Given the description of an element on the screen output the (x, y) to click on. 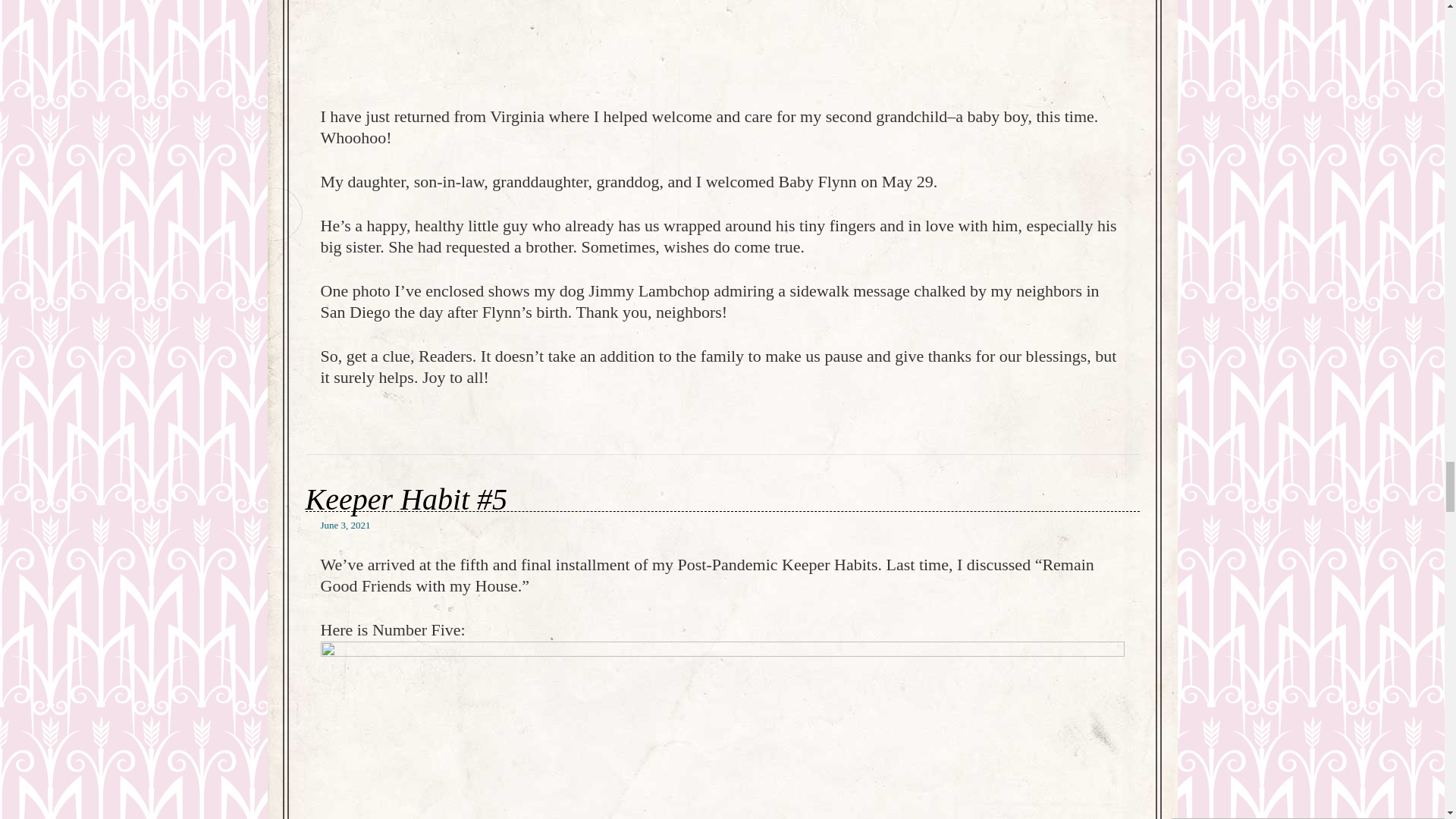
3:00 am (344, 525)
June 3, 2021 (344, 525)
